Given the description of an element on the screen output the (x, y) to click on. 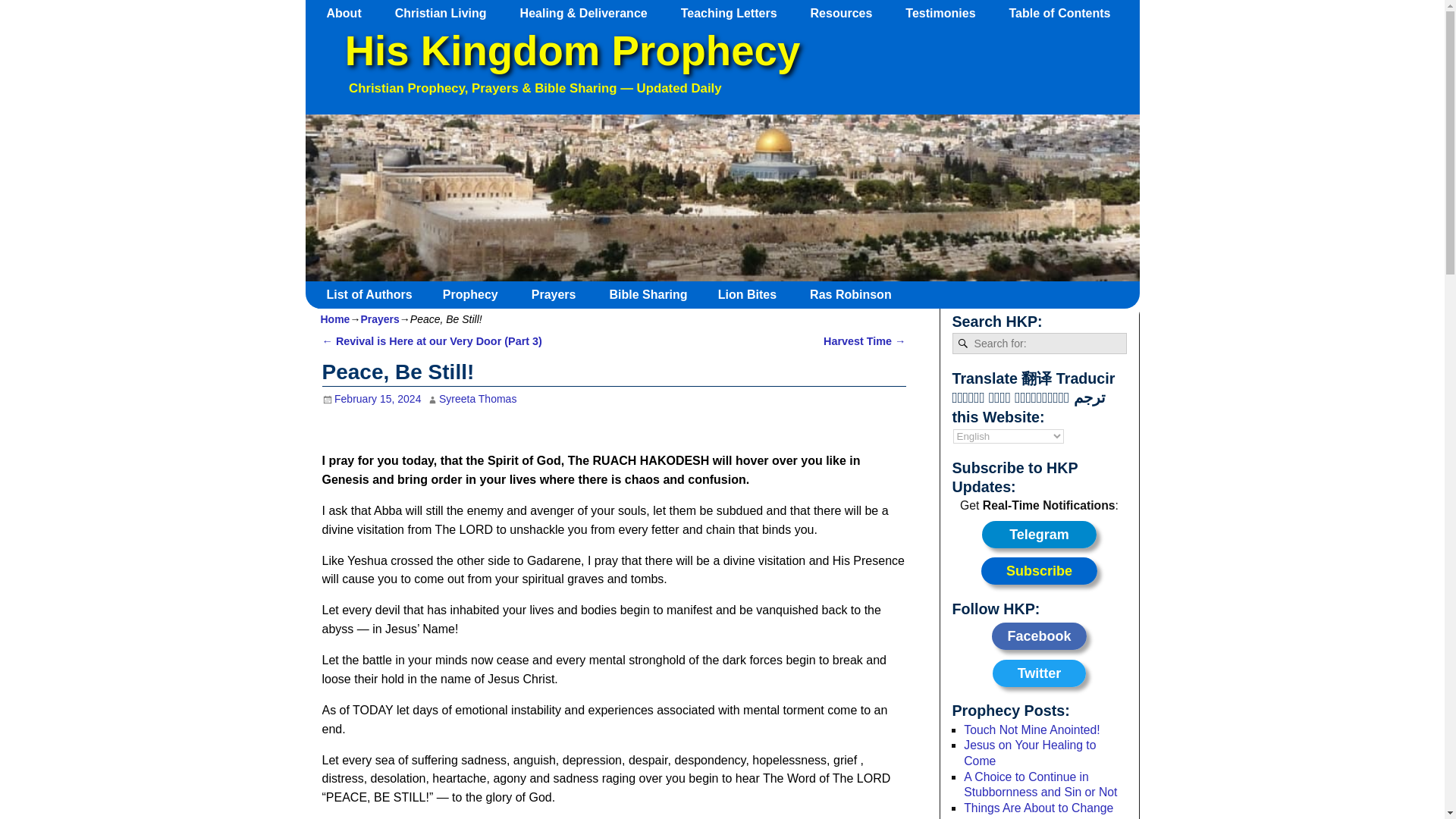
Teaching Letters (736, 13)
Christian Living (448, 13)
View all posts by Syreeta Thomas (477, 398)
Resources (849, 13)
List of Authors (374, 294)
About (351, 13)
Table of Contents (1066, 13)
10:34 pm (370, 398)
His Kingdom Prophecy (571, 50)
His Kingdom Prophecy (571, 50)
Testimonies (947, 13)
